Given the description of an element on the screen output the (x, y) to click on. 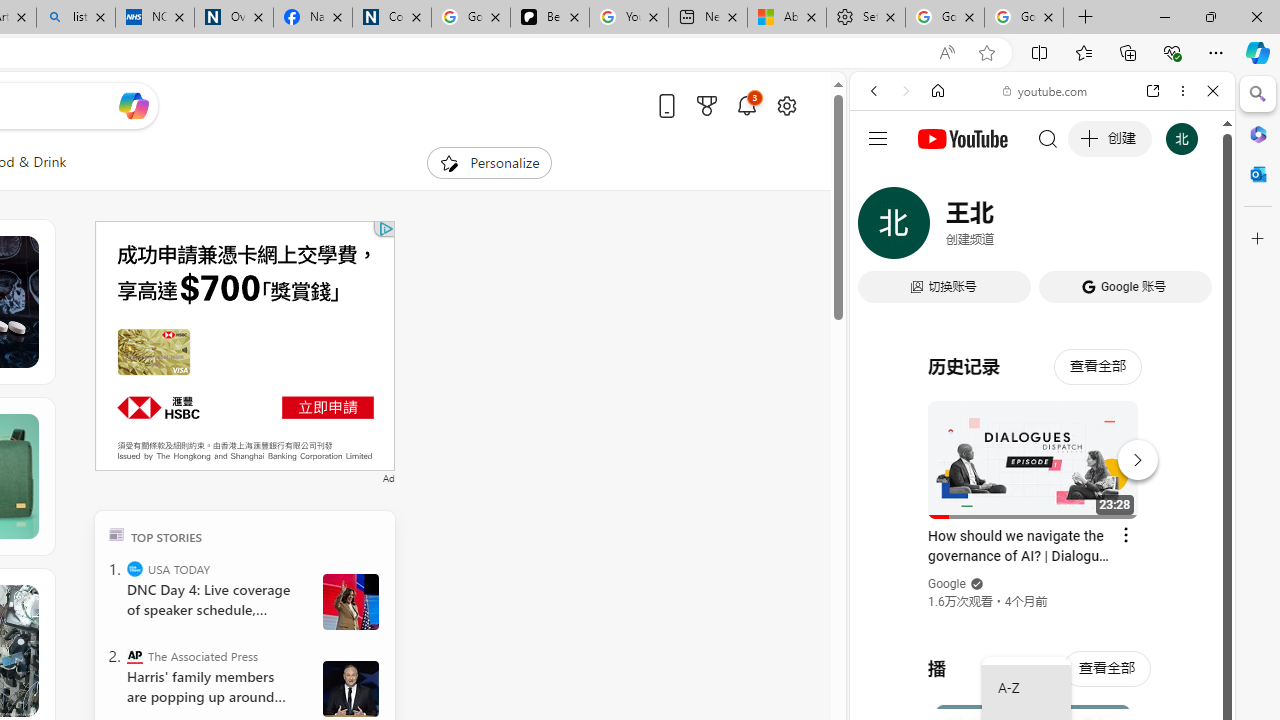
Close Customize pane (1258, 239)
The Associated Press (134, 655)
